Given the description of an element on the screen output the (x, y) to click on. 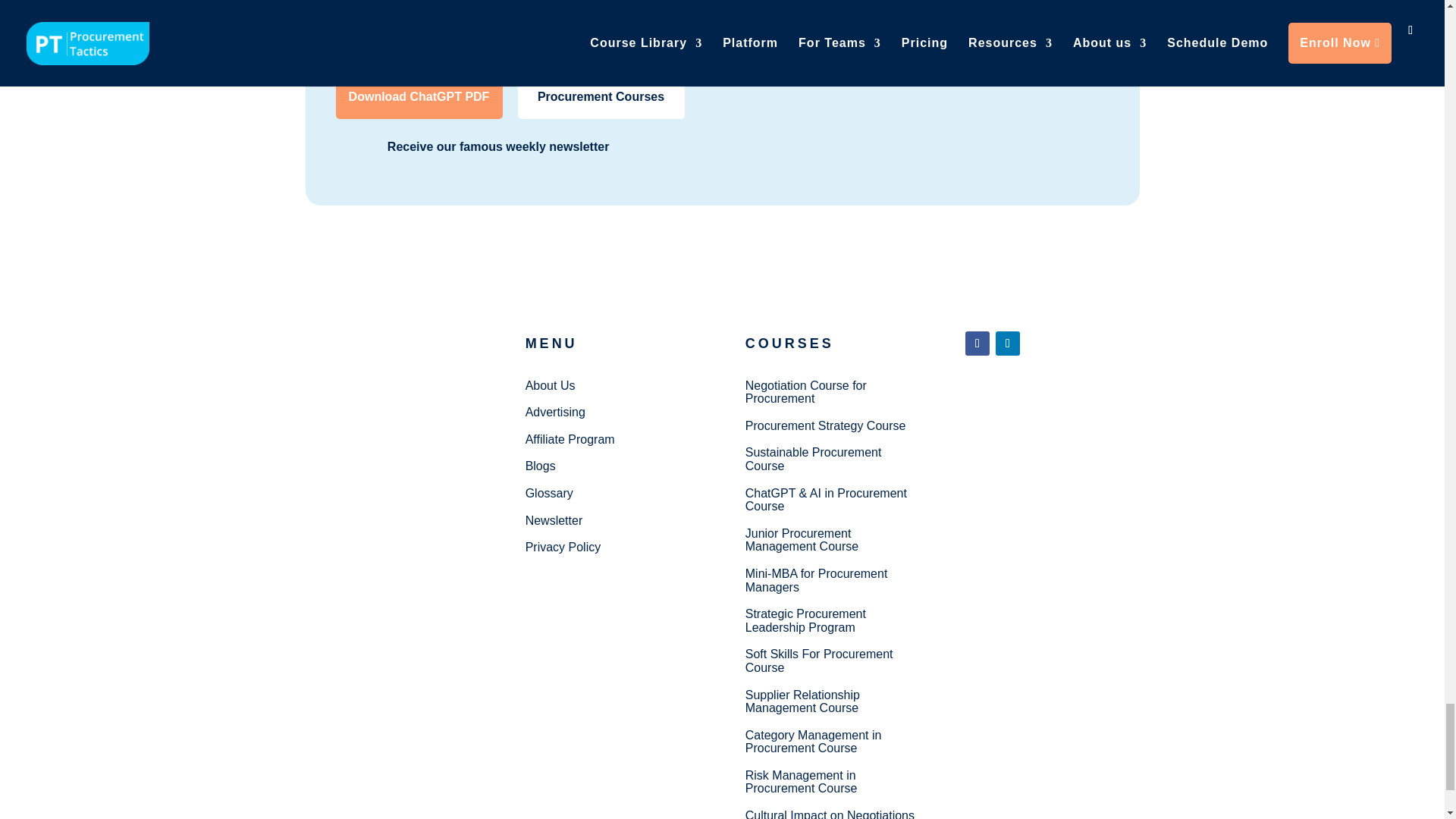
Follow on LinkedIn (1007, 343)
Marijn Footer ChatGPT (976, 75)
Follow on Facebook (977, 343)
Procurement Tactics Logo 2024 v3 (380, 357)
